Given the description of an element on the screen output the (x, y) to click on. 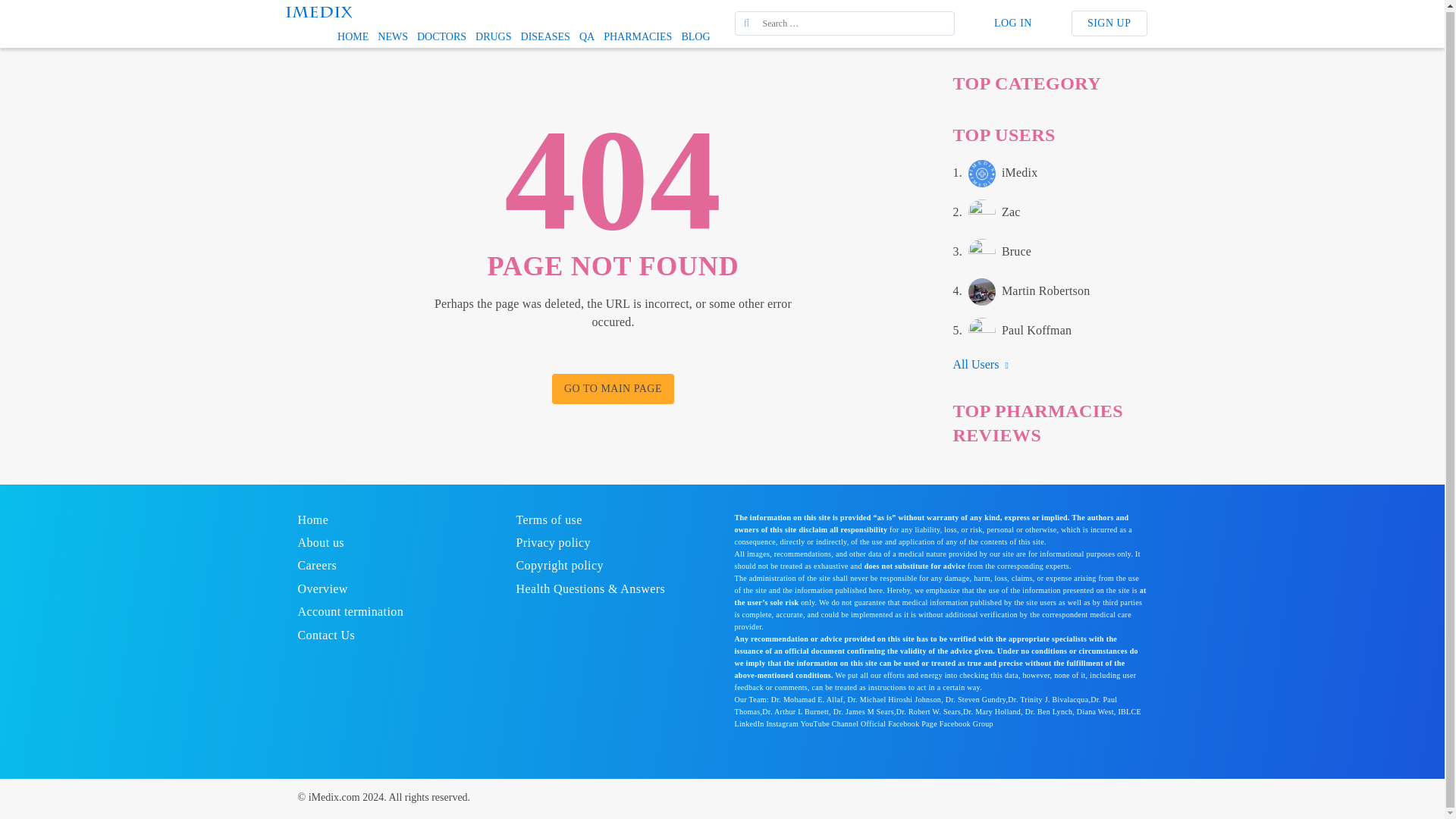
DISEASES (545, 36)
SIGN UP (1109, 23)
DOCTORS (440, 36)
LOG IN (1012, 23)
DRUGS (493, 36)
iMedix: Your Personal Health Advisor. (994, 173)
PHARMACIES (318, 10)
HOME (637, 36)
Search (352, 36)
NEWS (986, 212)
QA (22, 7)
GO TO MAIN PAGE (392, 36)
